Given the description of an element on the screen output the (x, y) to click on. 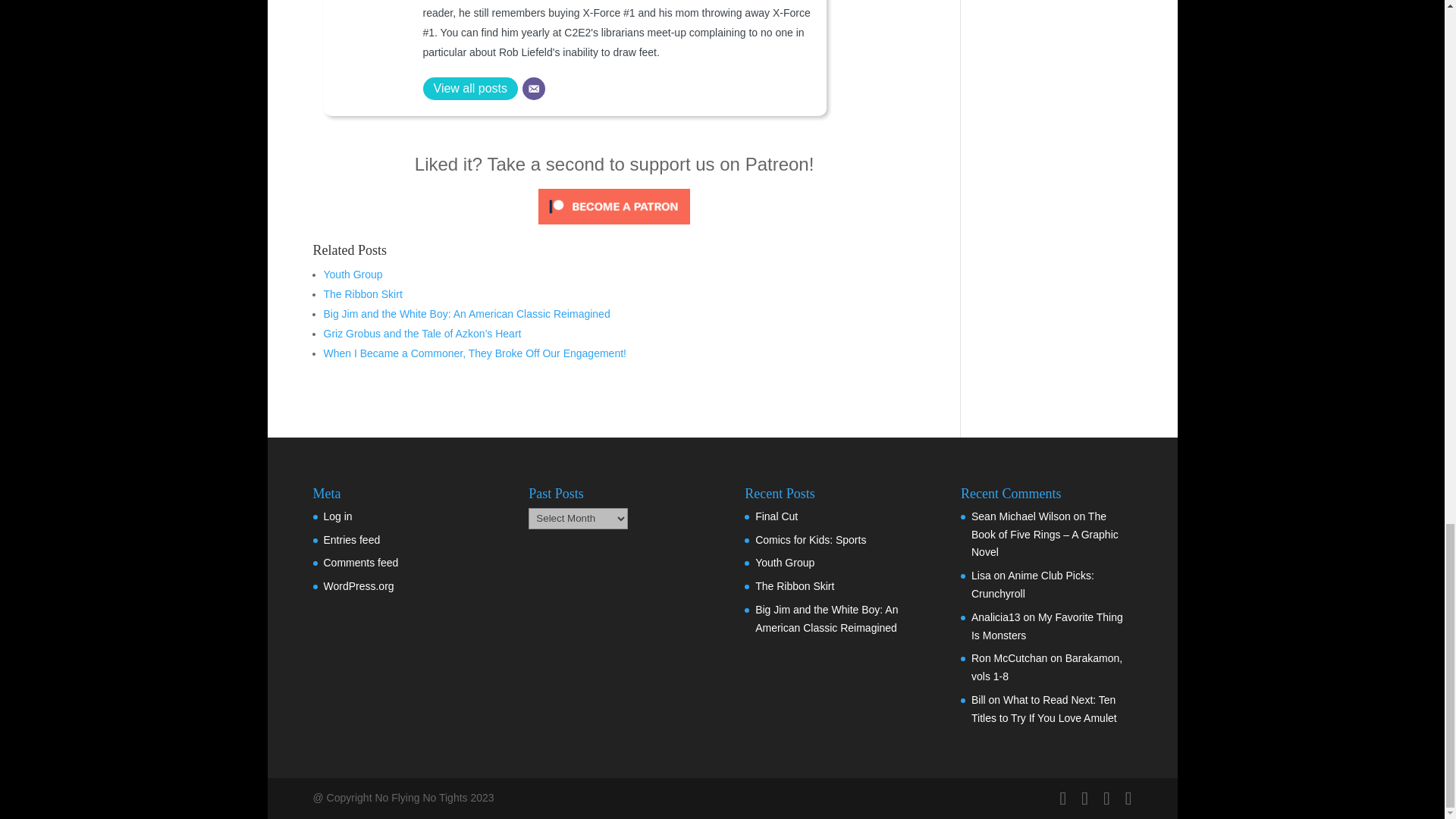
Big Jim and the White Boy: An American Classic Reimagined (466, 313)
The Ribbon Skirt (362, 294)
View all posts (470, 87)
View all posts (470, 87)
Youth Group (352, 274)
When I Became a Commoner, They Broke Off Our Engagement! (474, 353)
